Given the description of an element on the screen output the (x, y) to click on. 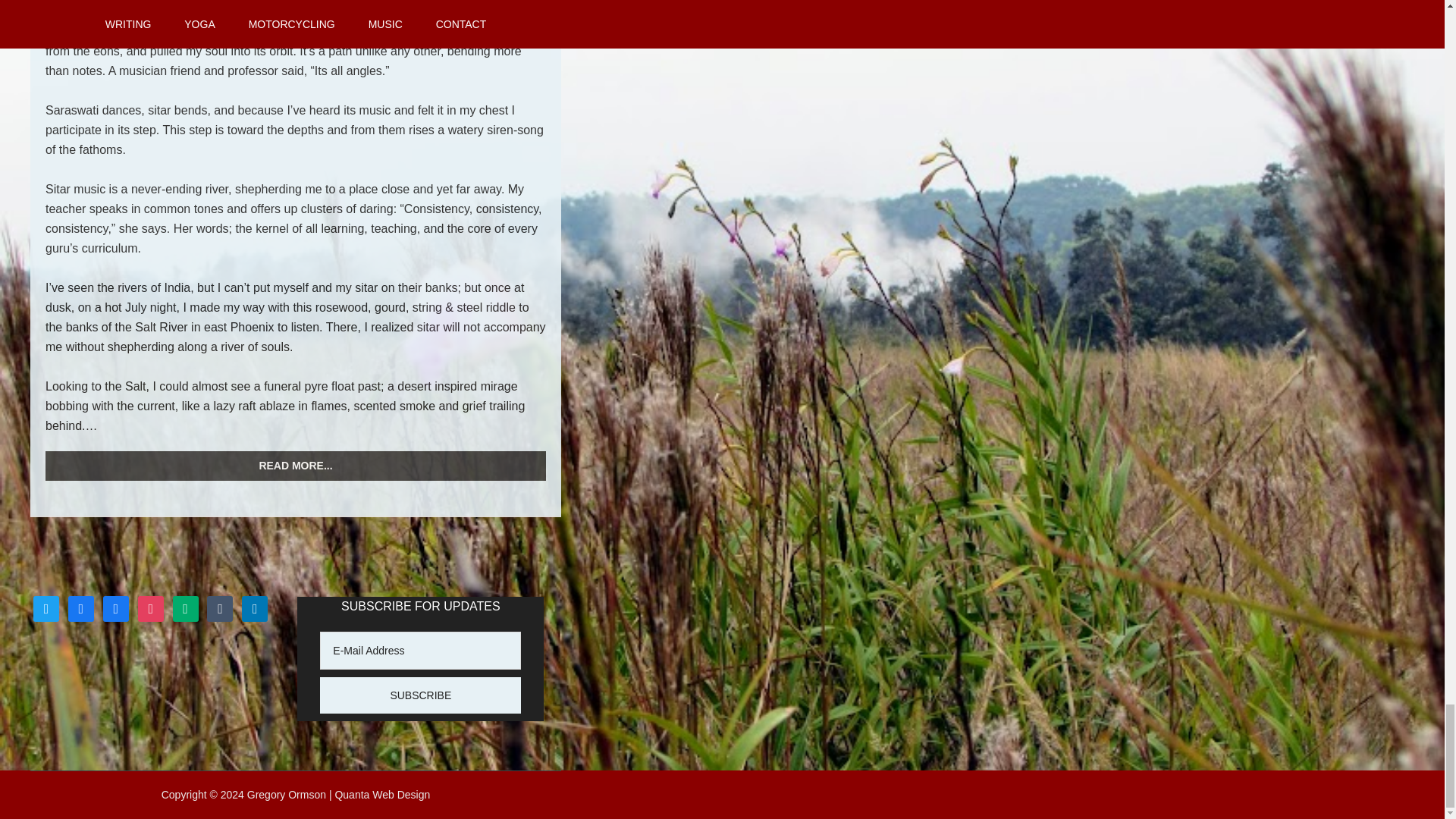
Instagram (150, 607)
Facebook (81, 607)
READ MORE... (295, 465)
twitter (46, 607)
linkedin (254, 607)
Facebook Page (116, 607)
Medium (185, 607)
Tumblr (219, 607)
Twitter (46, 607)
Quanta Web Design (381, 794)
medium (185, 607)
SUBSCRIBE (420, 695)
instagram (150, 607)
facebook (116, 607)
LinkedIn (254, 607)
